Given the description of an element on the screen output the (x, y) to click on. 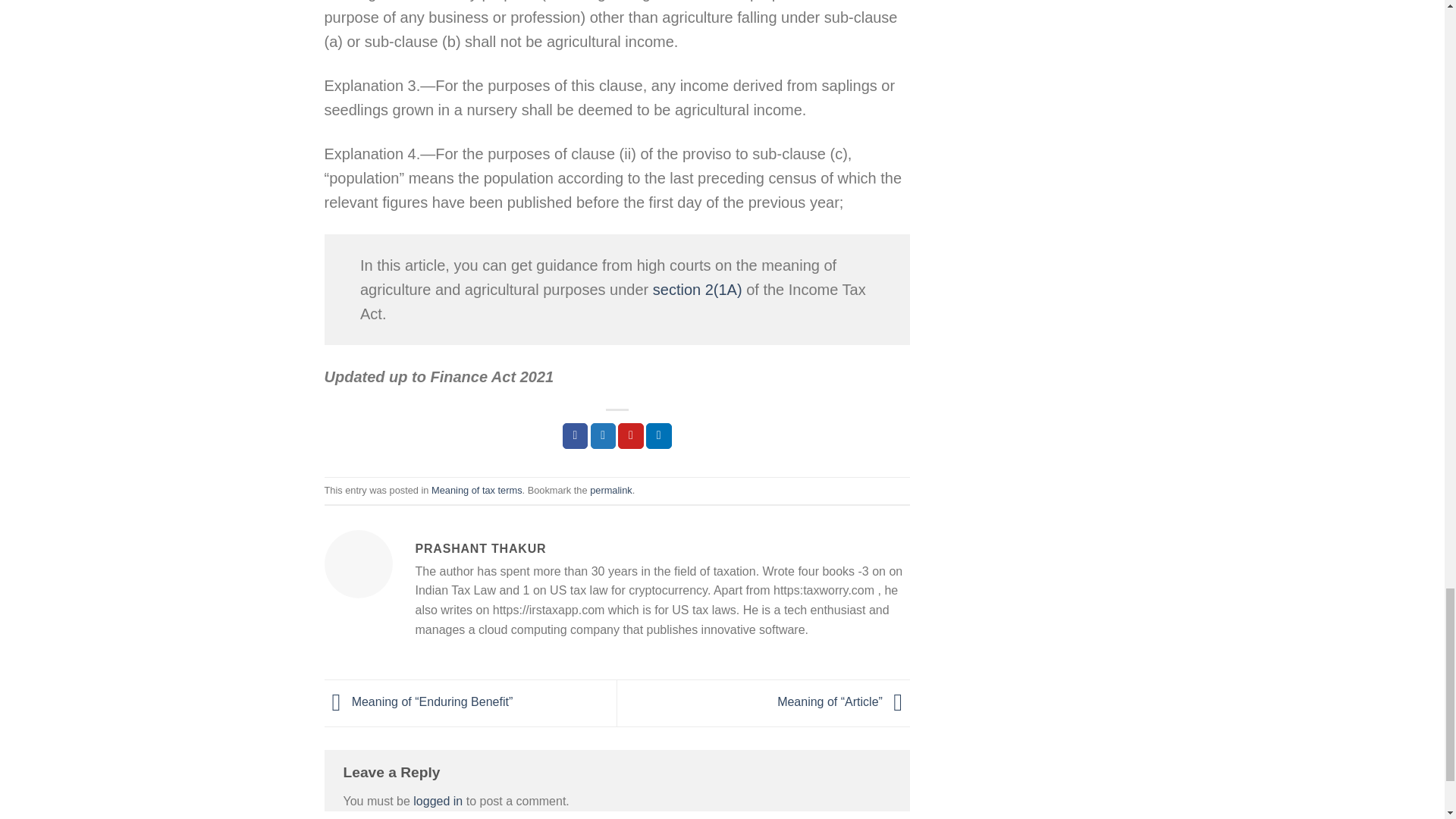
Share on Facebook (575, 435)
logged in (438, 800)
permalink (610, 490)
Share on Twitter (603, 435)
Share on LinkedIn (658, 435)
Pin on Pinterest (630, 435)
Meaning of tax terms (476, 490)
